Given the description of an element on the screen output the (x, y) to click on. 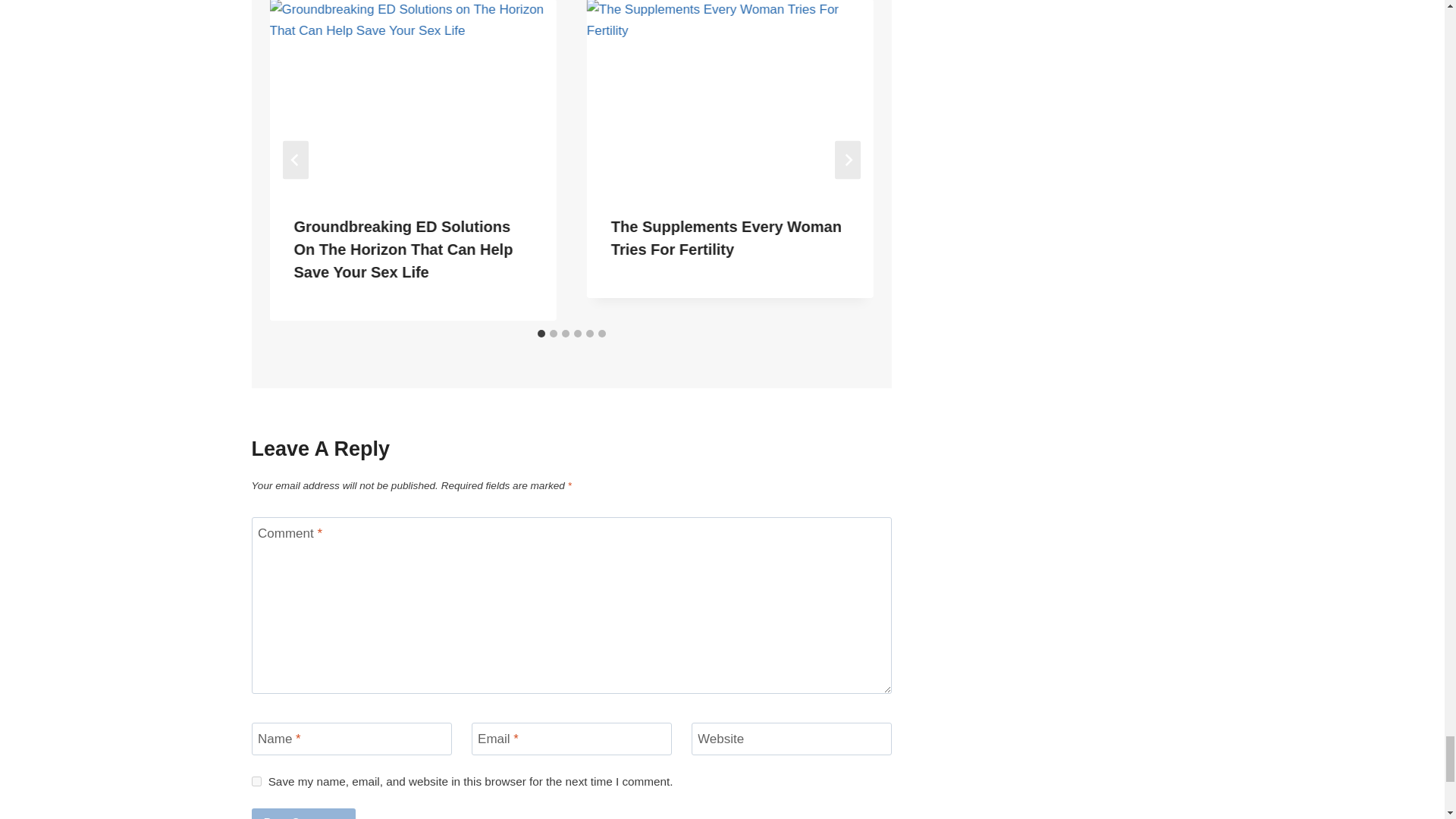
Post Comment (303, 813)
yes (256, 781)
